Given the description of an element on the screen output the (x, y) to click on. 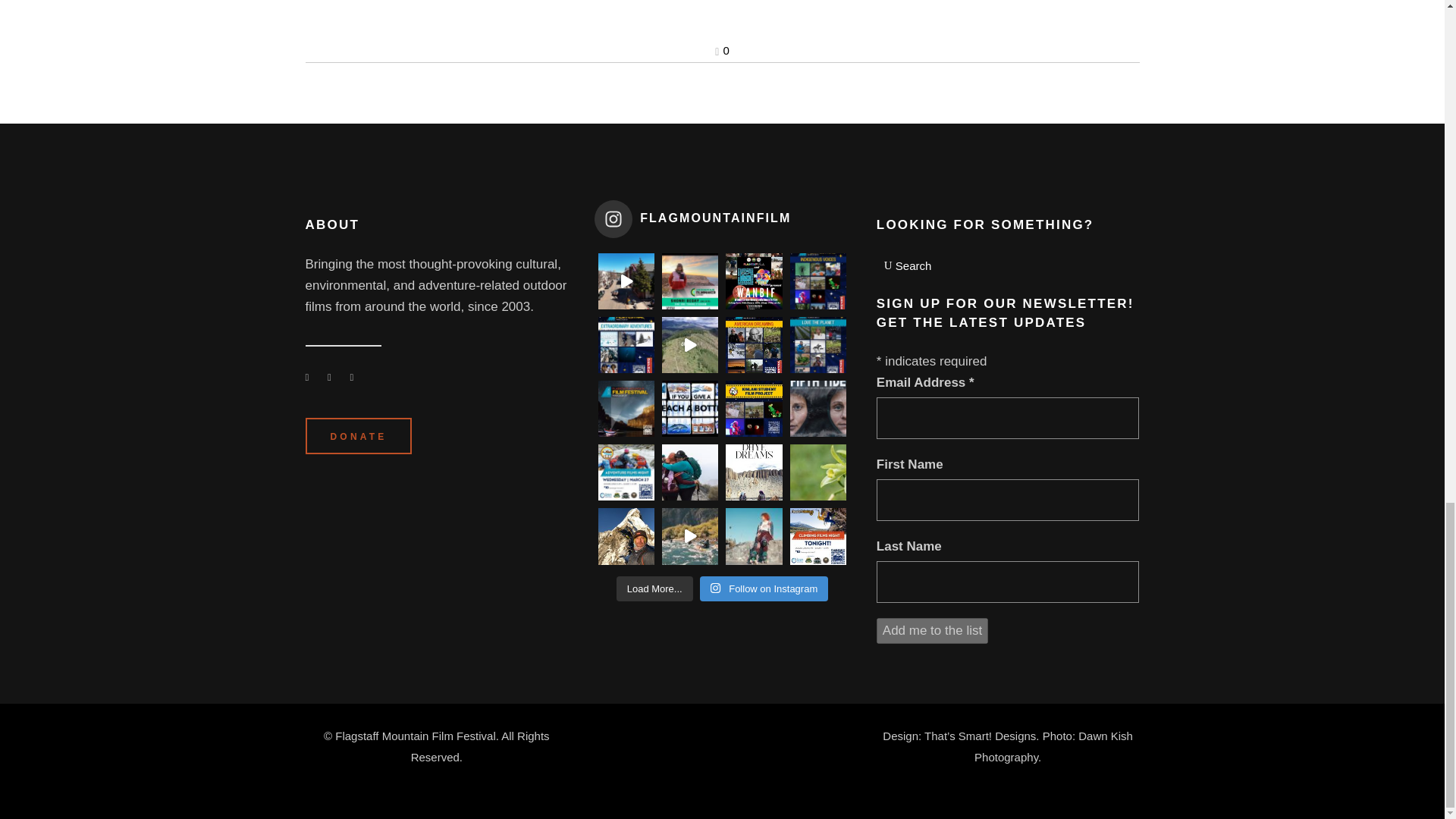
Like this (721, 50)
Add me to the list (932, 630)
